Given the description of an element on the screen output the (x, y) to click on. 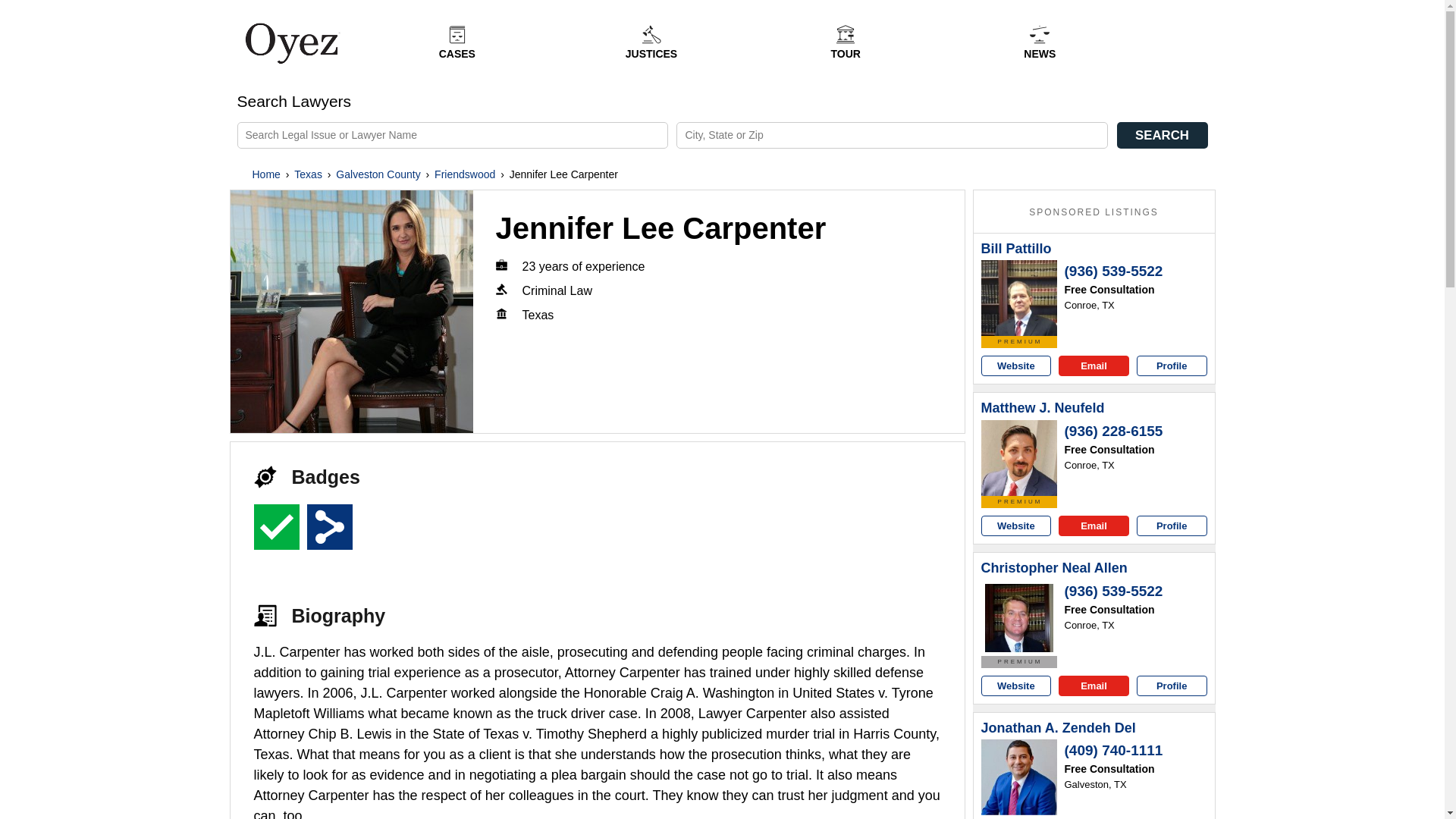
City, State or Zip (891, 135)
Christopher Neal Allen (1053, 568)
TOUR (845, 41)
Bill Pattillo (1019, 297)
Bill Pattillo (1016, 248)
Jonathan A. Zendeh Del (1019, 776)
Christopher Neal Allen (1053, 568)
SEARCH (1161, 135)
Bill Pattillo (1016, 248)
SPONSORED LISTINGS (1093, 212)
Texas (307, 174)
Profile (1172, 525)
Matthew J. Neufeld (1043, 408)
Matthew J. Neufeld (1019, 458)
Christopher Neal Allen (1019, 617)
